Given the description of an element on the screen output the (x, y) to click on. 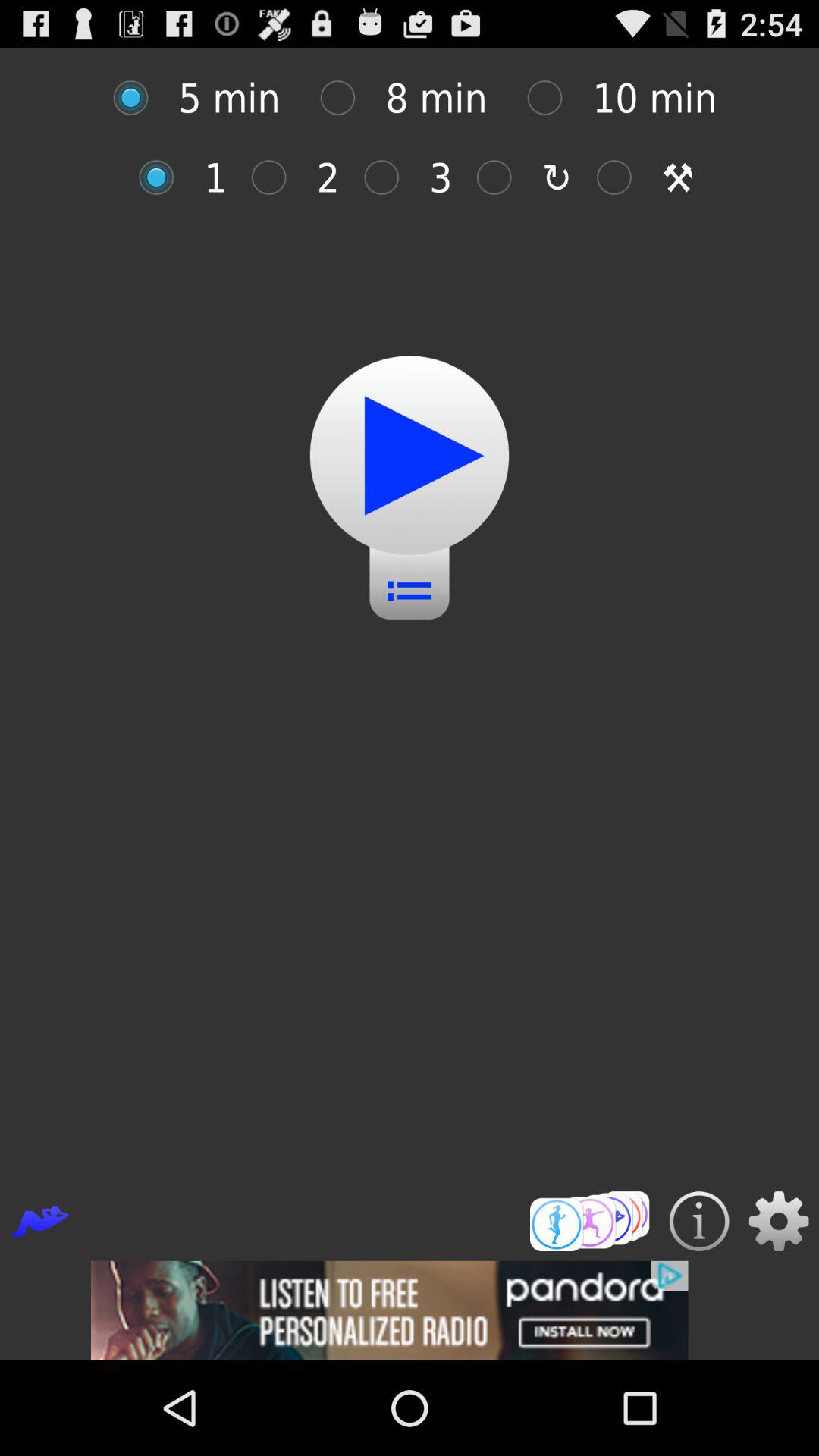
select the time (138, 97)
